Given the description of an element on the screen output the (x, y) to click on. 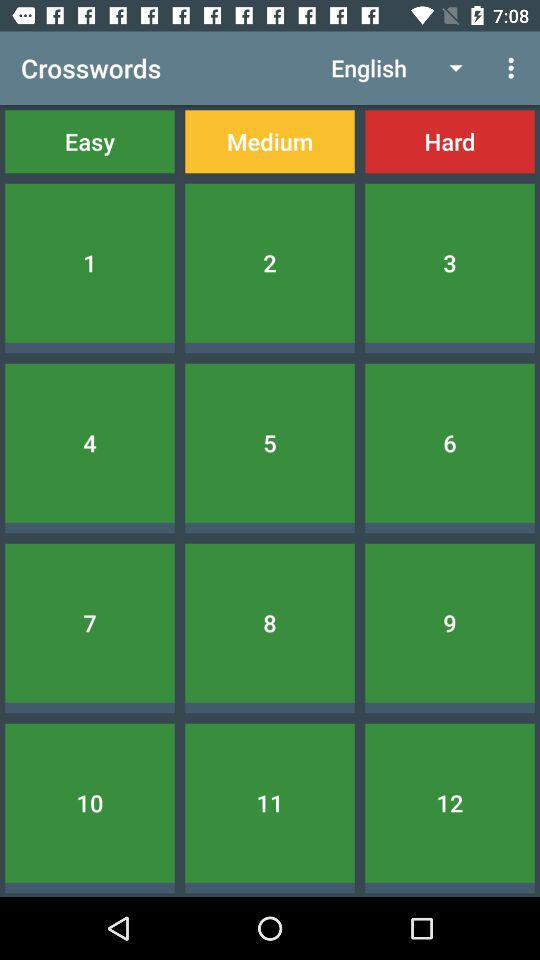
turn on the icon below crosswords item (89, 141)
